Given the description of an element on the screen output the (x, y) to click on. 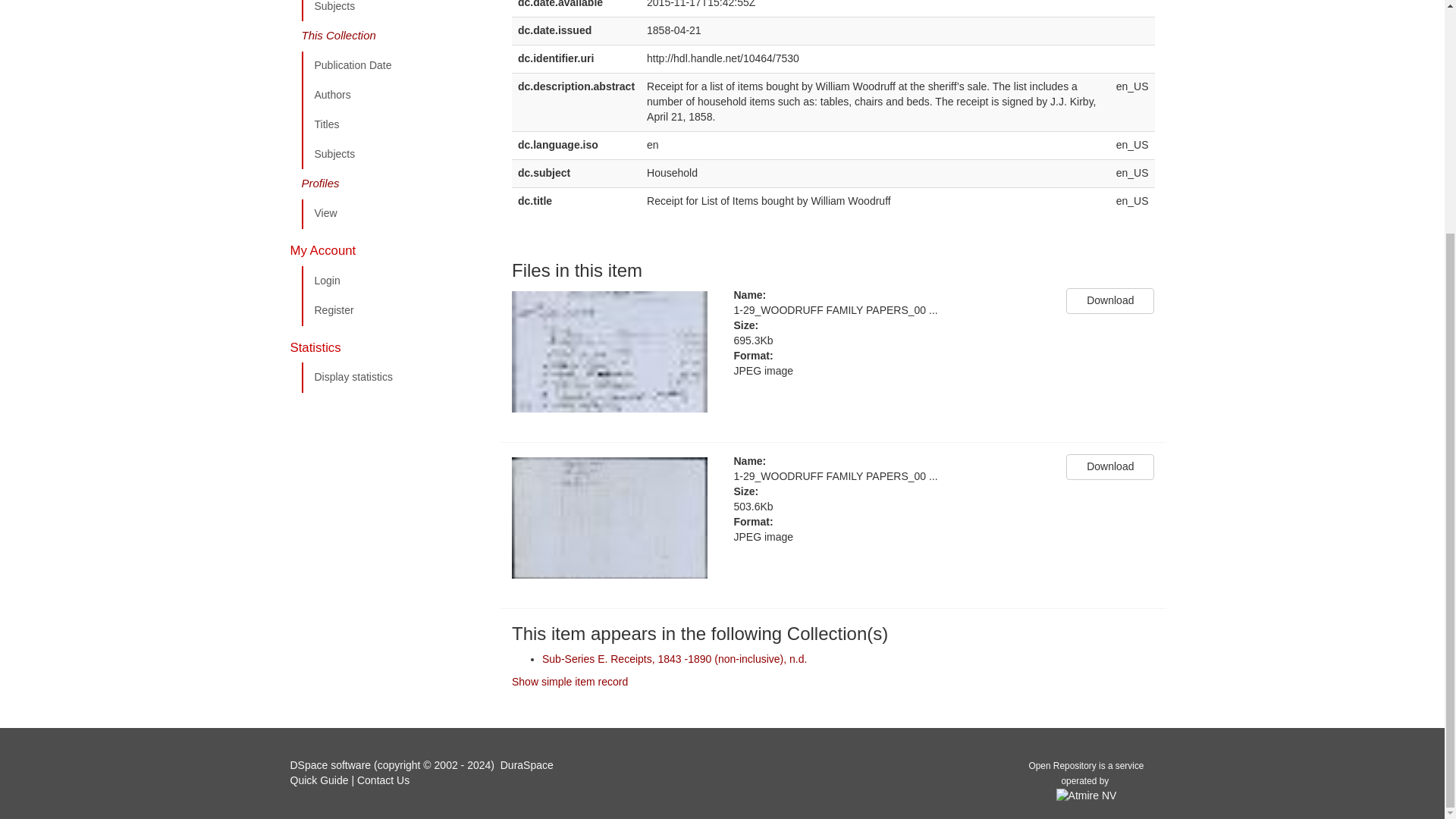
Profiles (395, 183)
This Collection (395, 36)
Login (395, 281)
Subjects (395, 11)
Subjects (395, 154)
Register (395, 310)
View (395, 214)
Authors (395, 95)
Display statistics (395, 377)
Atmire NV (1086, 794)
